Given the description of an element on the screen output the (x, y) to click on. 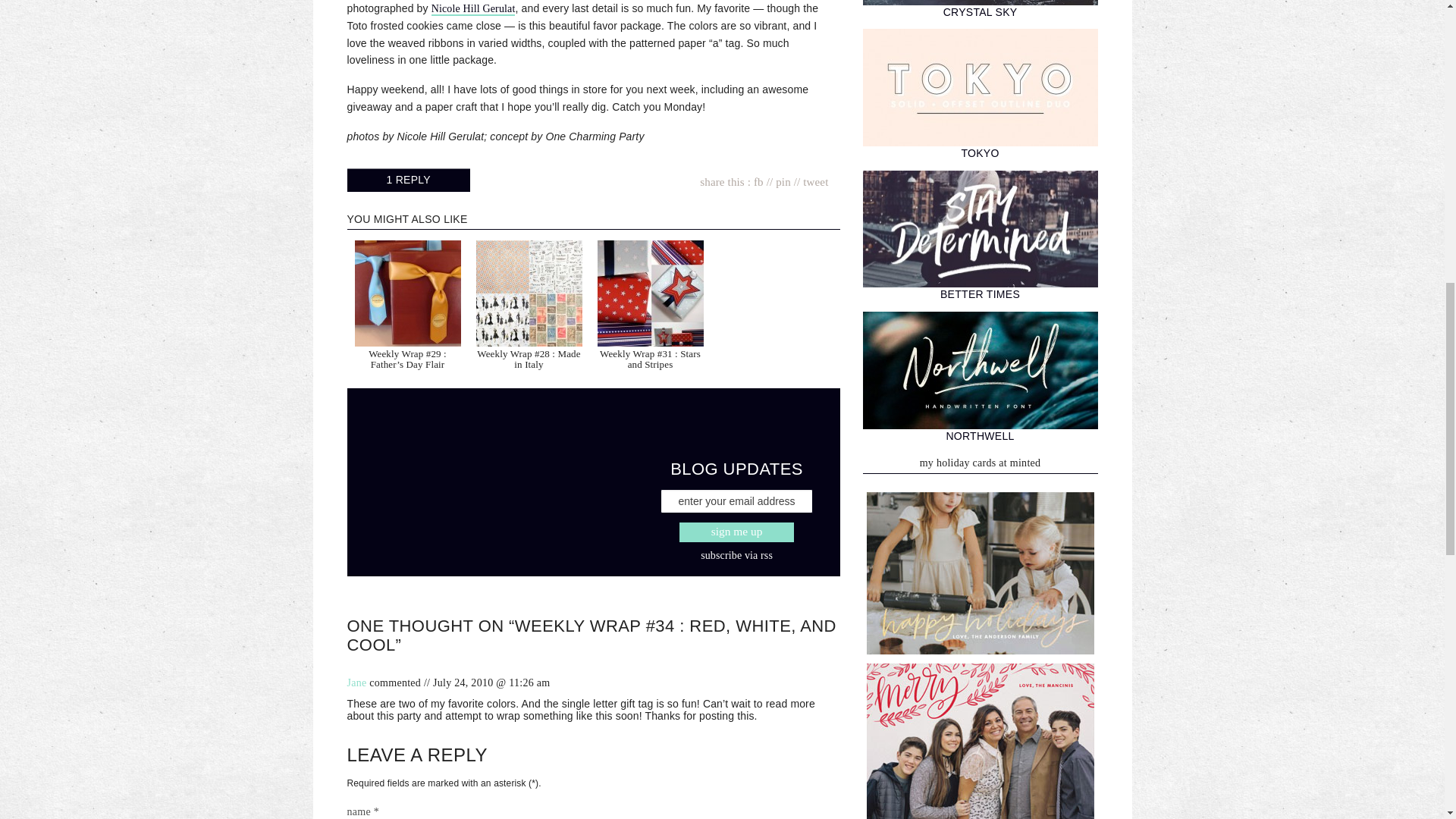
sign me up (736, 532)
enter your email address (737, 500)
